Given the description of an element on the screen output the (x, y) to click on. 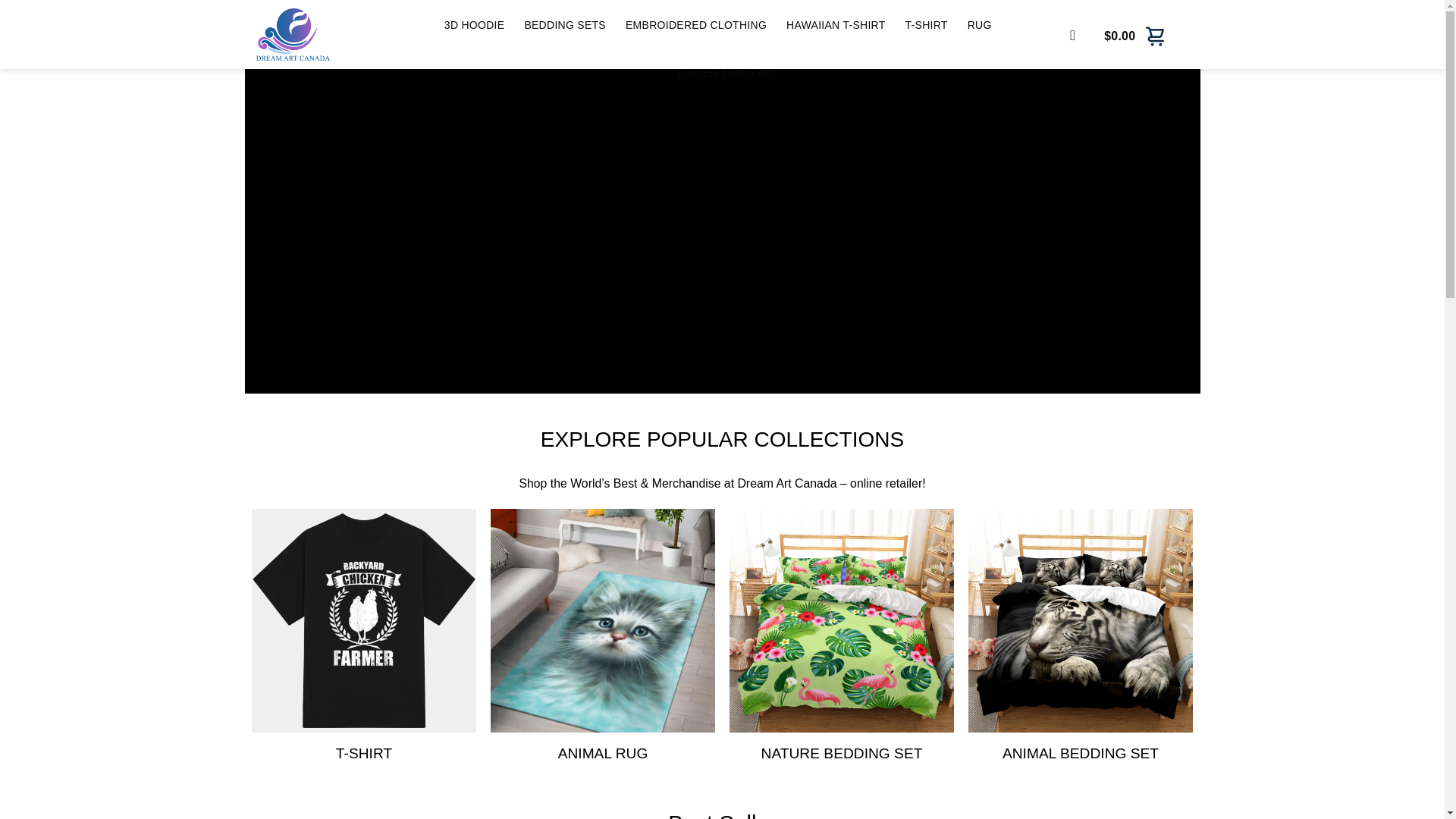
Cart (1135, 35)
T-SHIRT (926, 25)
Dream Art Canada (315, 34)
3D HOODIE (474, 25)
HAWAIIAN T-SHIRT (835, 25)
BEDDING SETS (564, 25)
T-SHIRT (363, 753)
ORDER TRACKING (727, 73)
EMBROIDERED CLOTHING (696, 25)
